Given the description of an element on the screen output the (x, y) to click on. 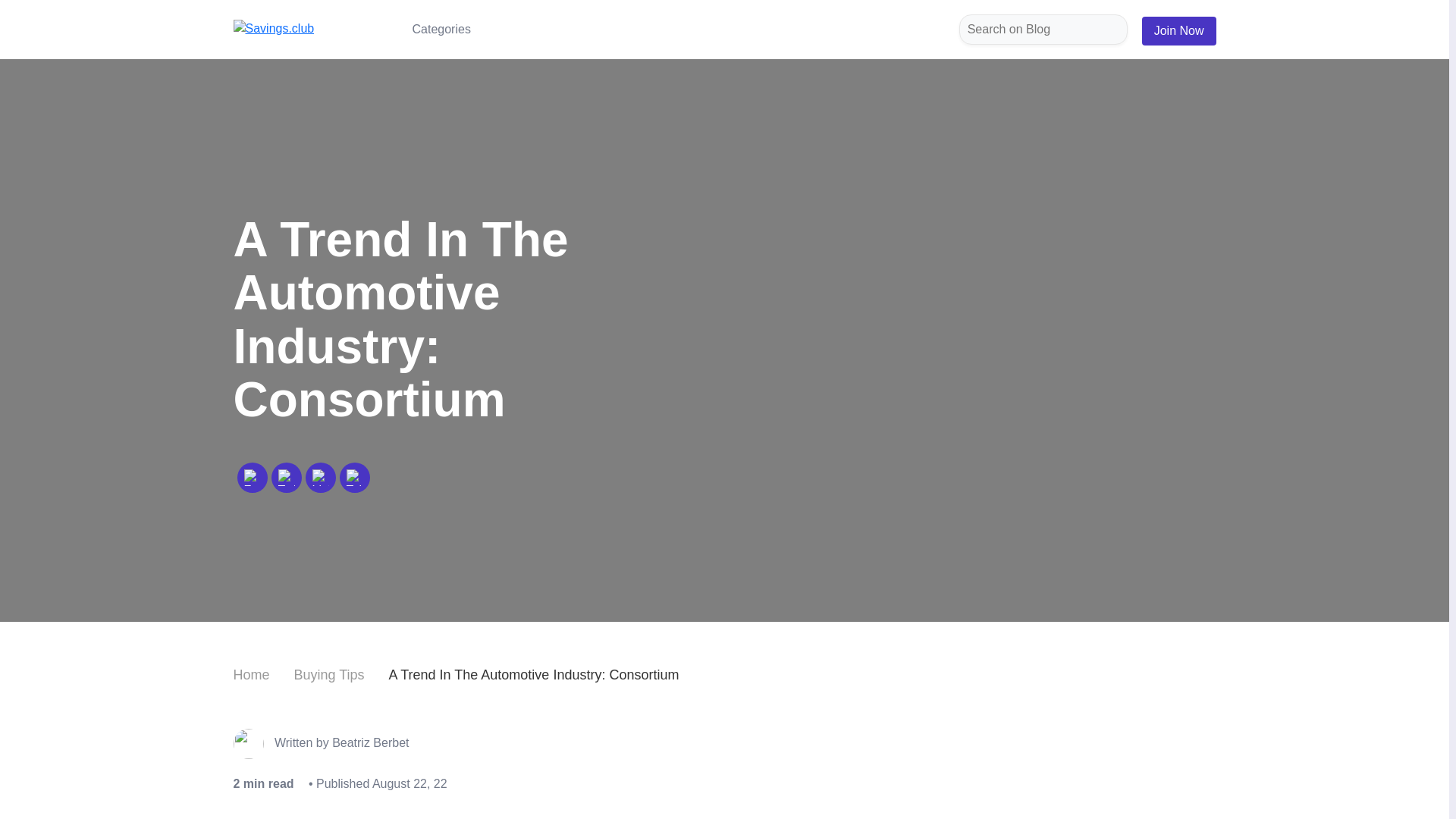
Facebook (252, 477)
Buying Tips (329, 674)
Categories (441, 29)
Search for: (1042, 29)
Twitter (286, 477)
Home (250, 674)
Beatriz Berbet (370, 742)
Telegram (354, 477)
LinkedIn (321, 477)
Join Now (1178, 30)
